Given the description of an element on the screen output the (x, y) to click on. 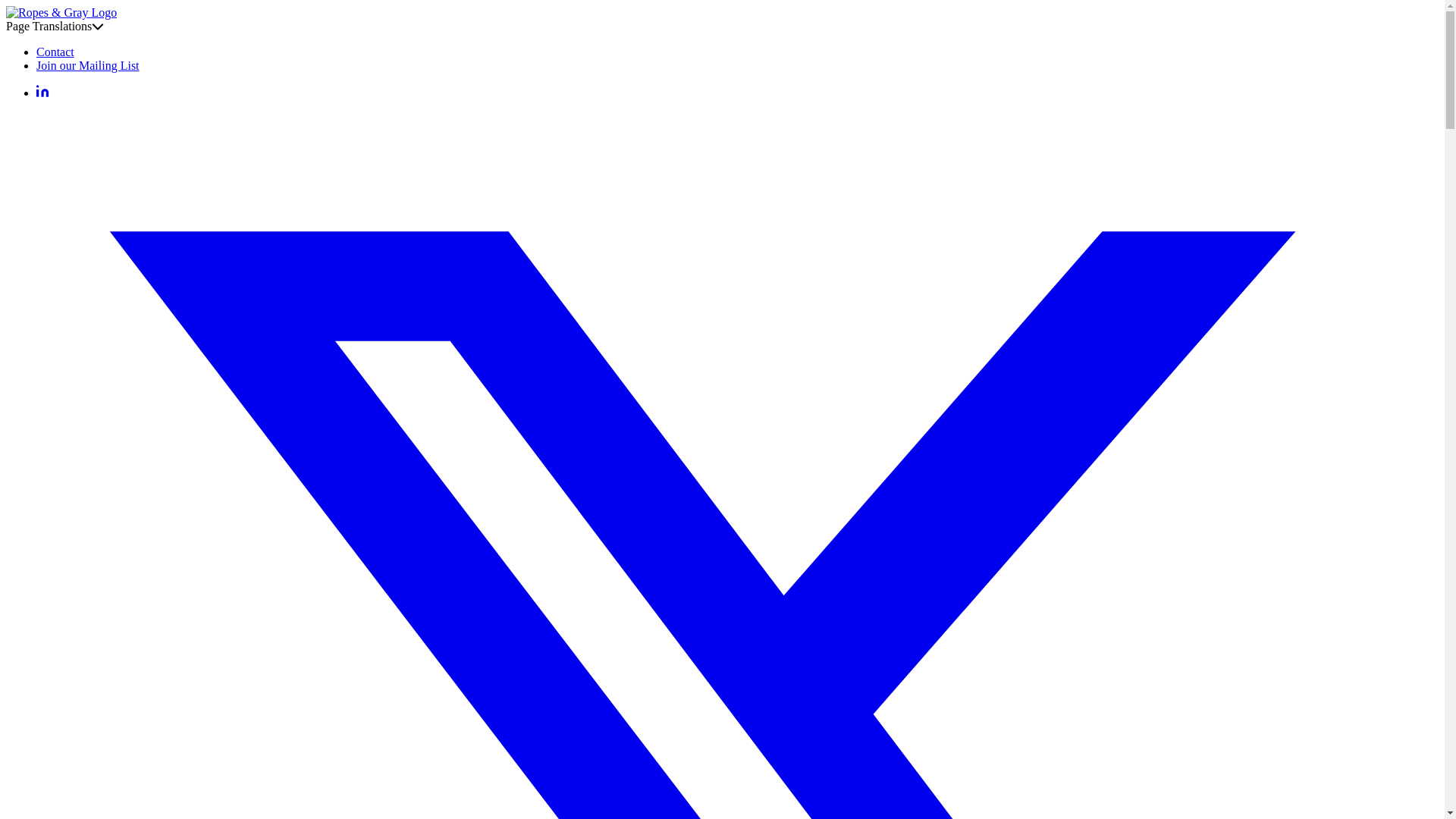
Contact (55, 51)
Join our Mailing List (87, 65)
Page Translations (54, 25)
linkedin (42, 92)
